Given the description of an element on the screen output the (x, y) to click on. 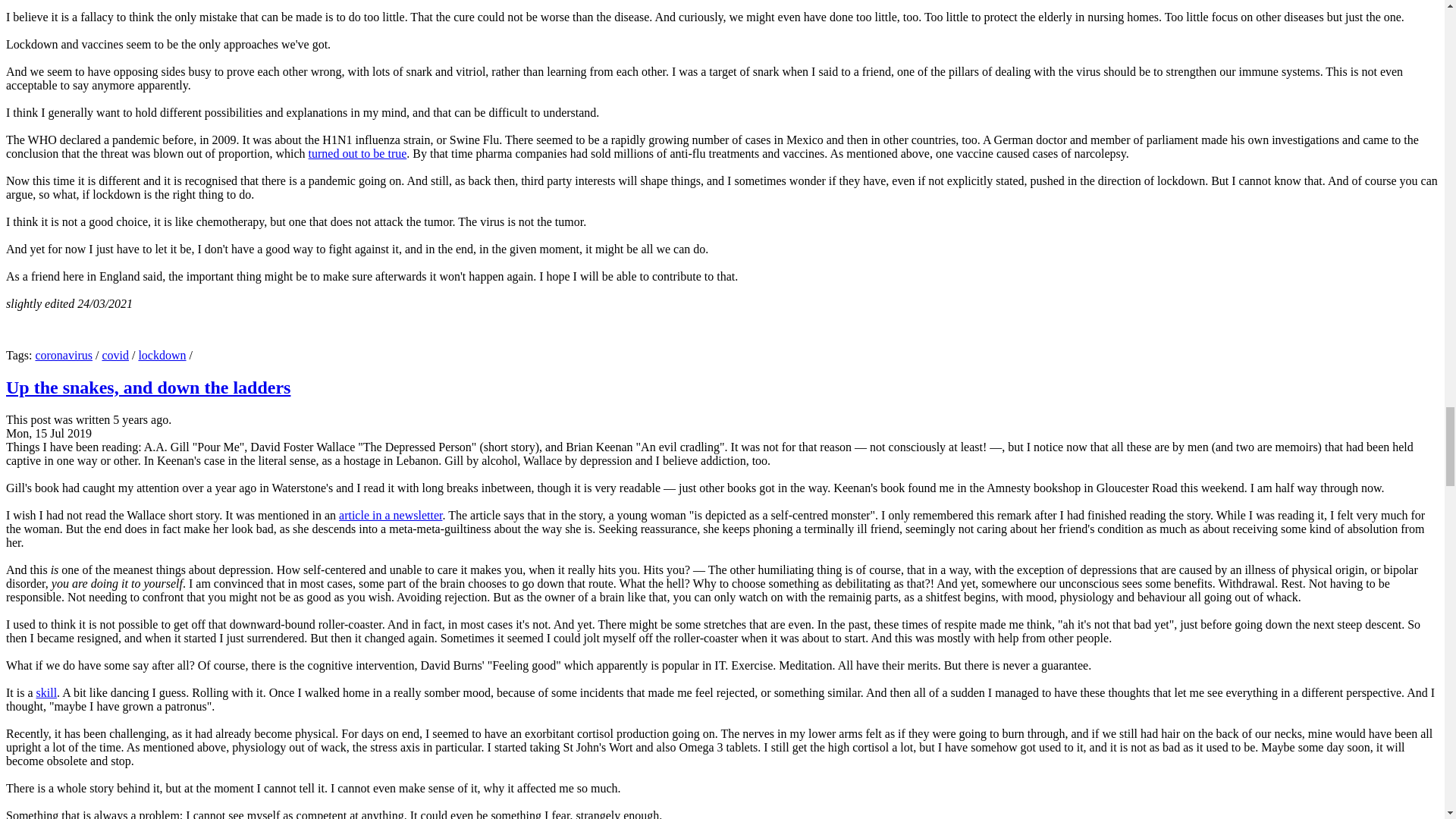
covid (115, 354)
coronavirus (63, 354)
article in a newsletter (390, 514)
skill (47, 692)
turned out to be true (357, 153)
lockdown (162, 354)
